Given the description of an element on the screen output the (x, y) to click on. 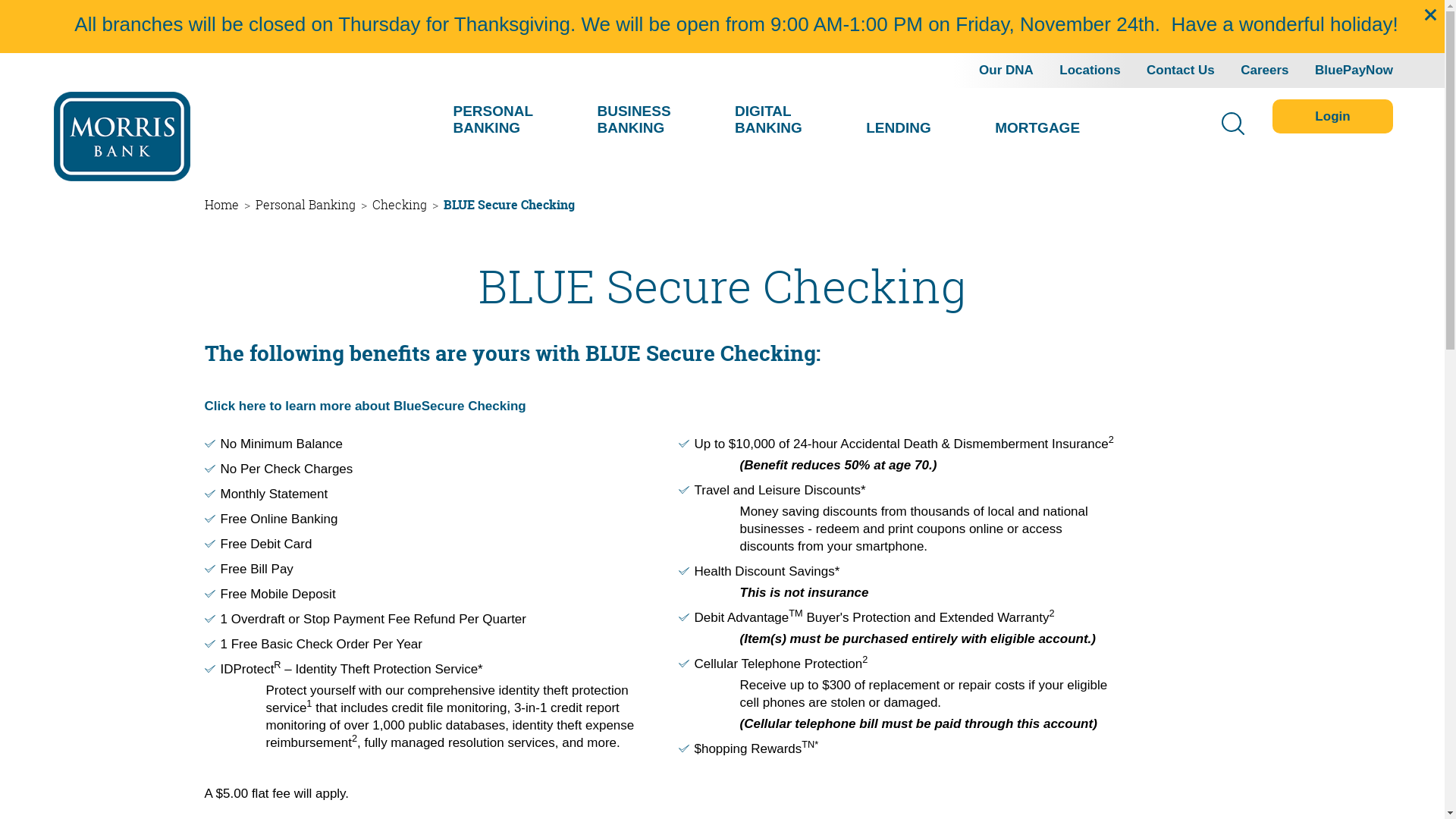
Home Element type: text (221, 204)
PERSONAL
BANKING Element type: text (492, 118)
Personal Banking Element type: text (304, 204)
BUSINESS
BANKING Element type: text (634, 118)
Contact Us Element type: text (1180, 69)
Checking Element type: text (398, 204)
LENDING Element type: text (898, 126)
MORTGAGE Element type: text (1036, 126)
Locations Element type: text (1089, 69)
Careers Element type: text (1264, 69)
BluePayNow Element type: text (1353, 69)
DIGITAL
BANKING Element type: text (768, 118)
Submit Element type: text (18, 6)
Our DNA Element type: text (1006, 69)
Click here to learn more about BlueSecure Checking Element type: text (365, 405)
Login Element type: text (1332, 116)
